Given the description of an element on the screen output the (x, y) to click on. 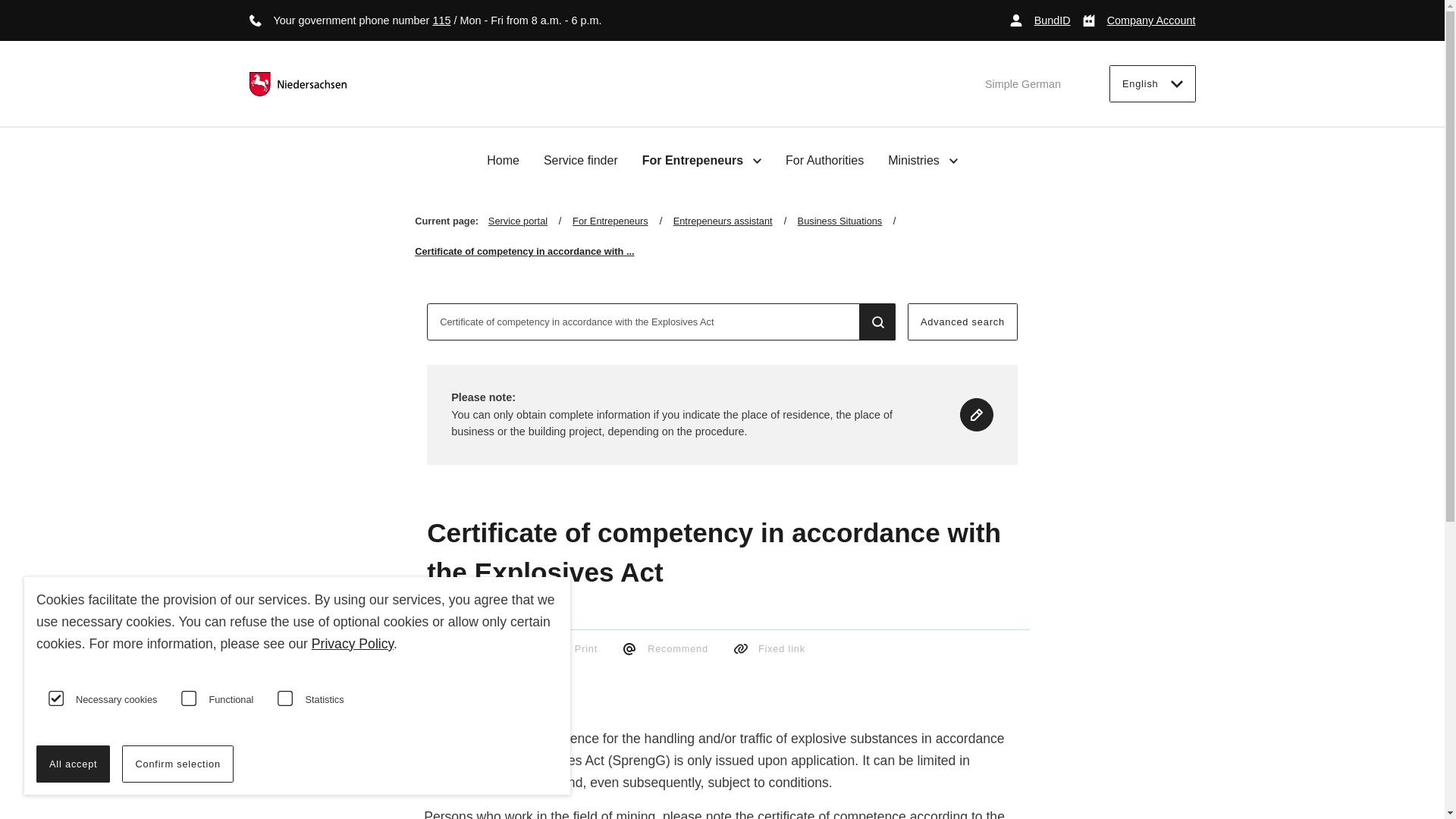
115 (440, 20)
Ministries (923, 160)
Home (502, 160)
Service finder (580, 160)
For Entrepeneurs (622, 221)
To listen to the text, please use ReadSpeaker (487, 677)
For Authorities (824, 160)
Service portal (529, 221)
Go to service portal home page (297, 84)
For Entrepeneurs (701, 160)
